Given the description of an element on the screen output the (x, y) to click on. 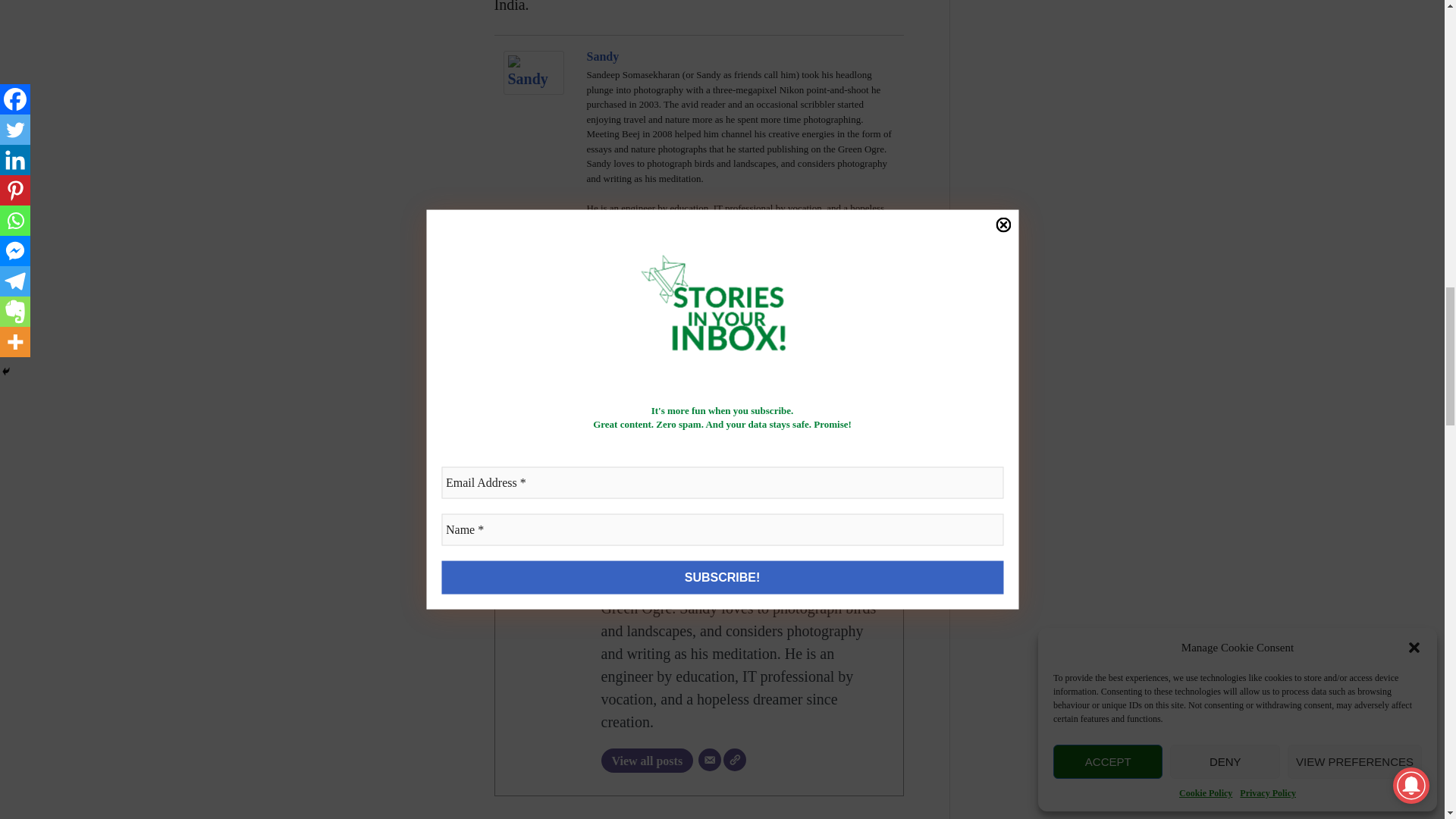
Sandy (624, 347)
View all posts (646, 760)
Sandy (533, 89)
